Given the description of an element on the screen output the (x, y) to click on. 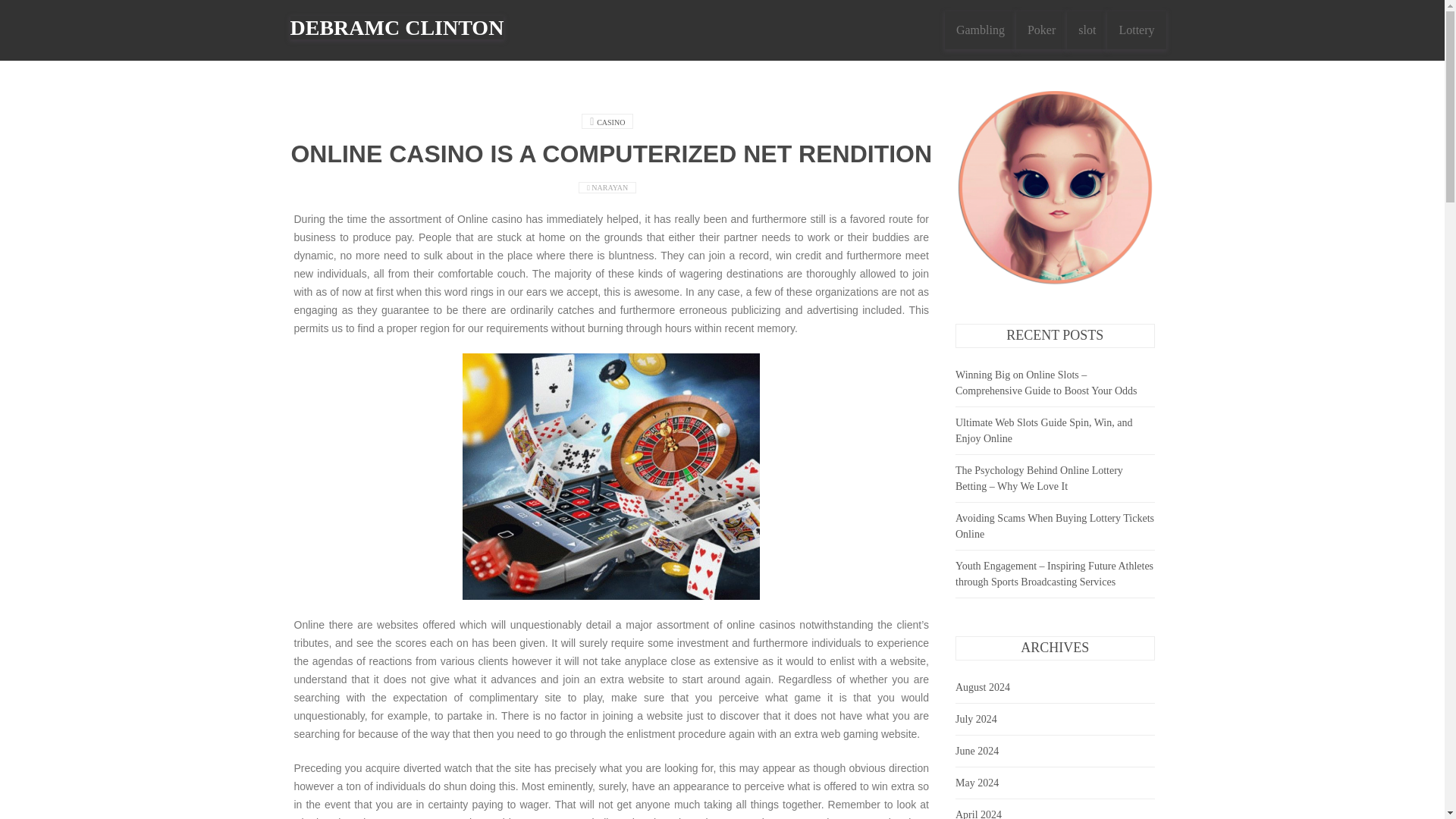
May 2024 (976, 782)
DEBRAMC CLINTON (396, 27)
CASINO (610, 121)
Gambling (980, 30)
Lottery (1136, 30)
June 2024 (976, 750)
Lottery (1136, 30)
April 2024 (978, 814)
July 2024 (976, 718)
Poker (1041, 30)
